Given the description of an element on the screen output the (x, y) to click on. 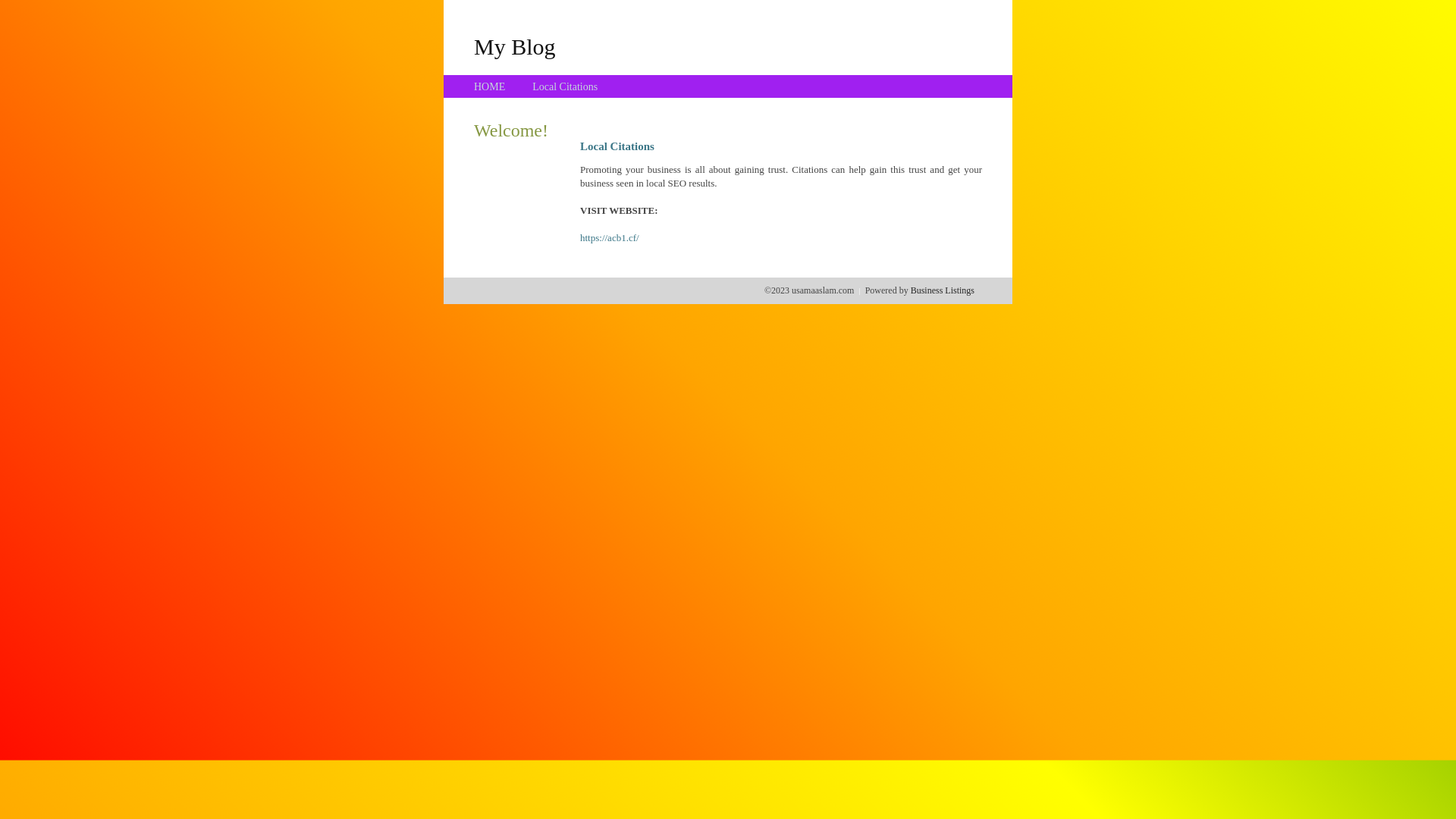
HOME Element type: text (489, 86)
Local Citations Element type: text (564, 86)
My Blog Element type: text (514, 46)
Business Listings Element type: text (942, 290)
https://acb1.cf/ Element type: text (609, 237)
